Given the description of an element on the screen output the (x, y) to click on. 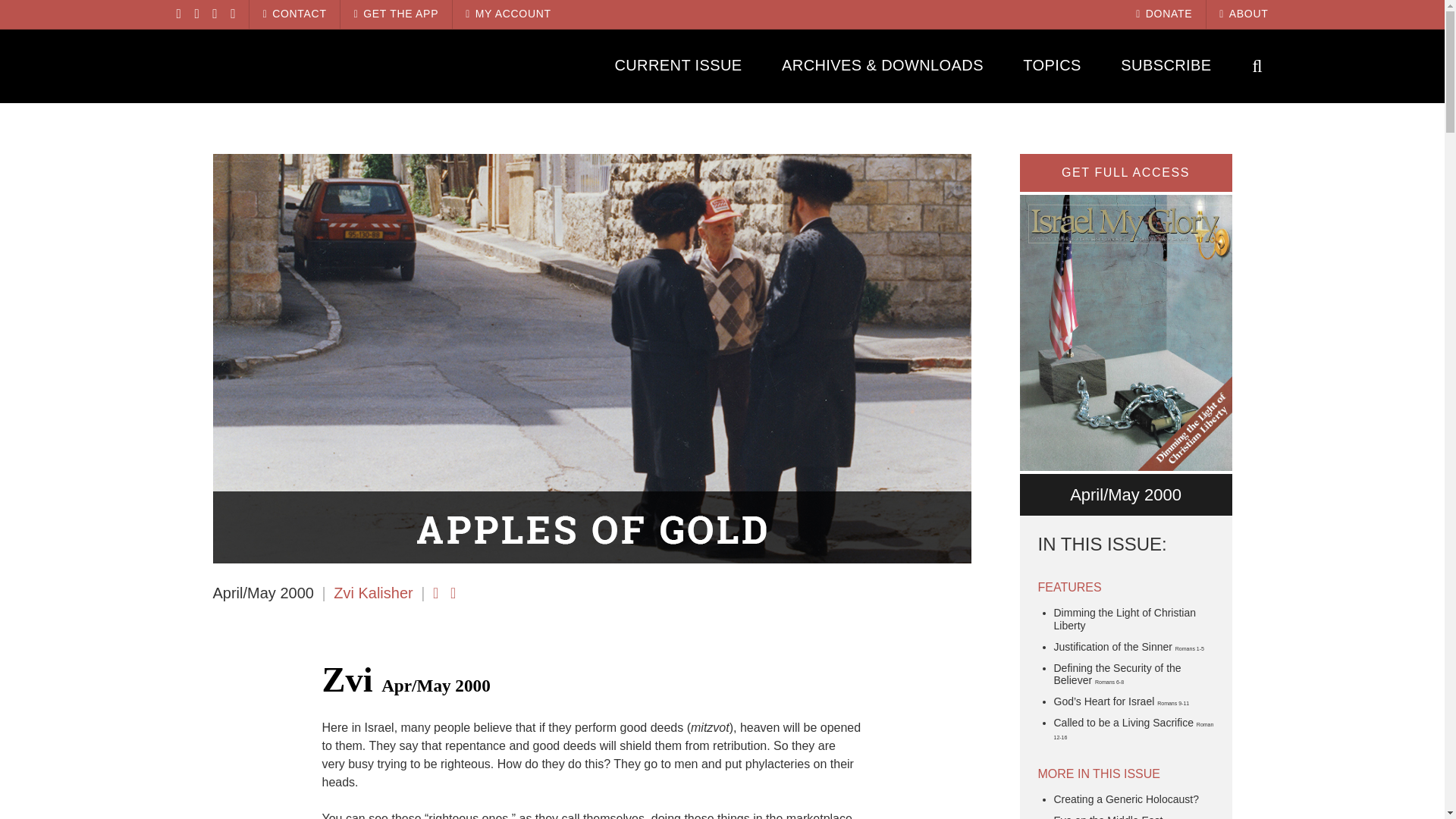
ABOUT (1244, 13)
GET THE APP (396, 13)
Israel My Glory (309, 65)
TOPICS (1052, 65)
MY ACCOUNT (508, 13)
CURRENT ISSUE (677, 65)
Zvi Kalisher (372, 592)
SUBSCRIBE (1166, 65)
CONTACT (294, 13)
DONATE (1163, 13)
